Given the description of an element on the screen output the (x, y) to click on. 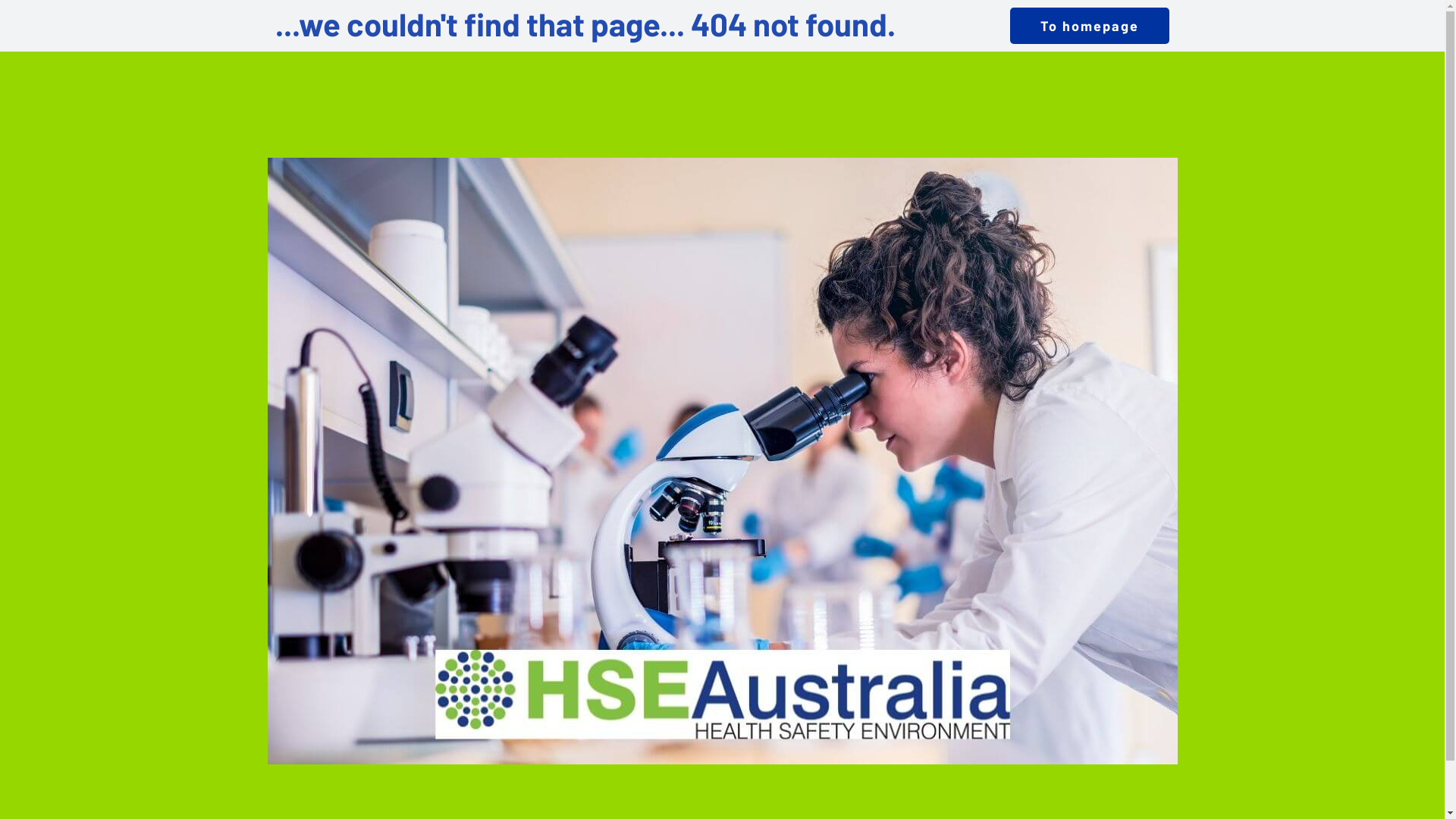
To homepage Element type: text (1089, 25)
